Given the description of an element on the screen output the (x, y) to click on. 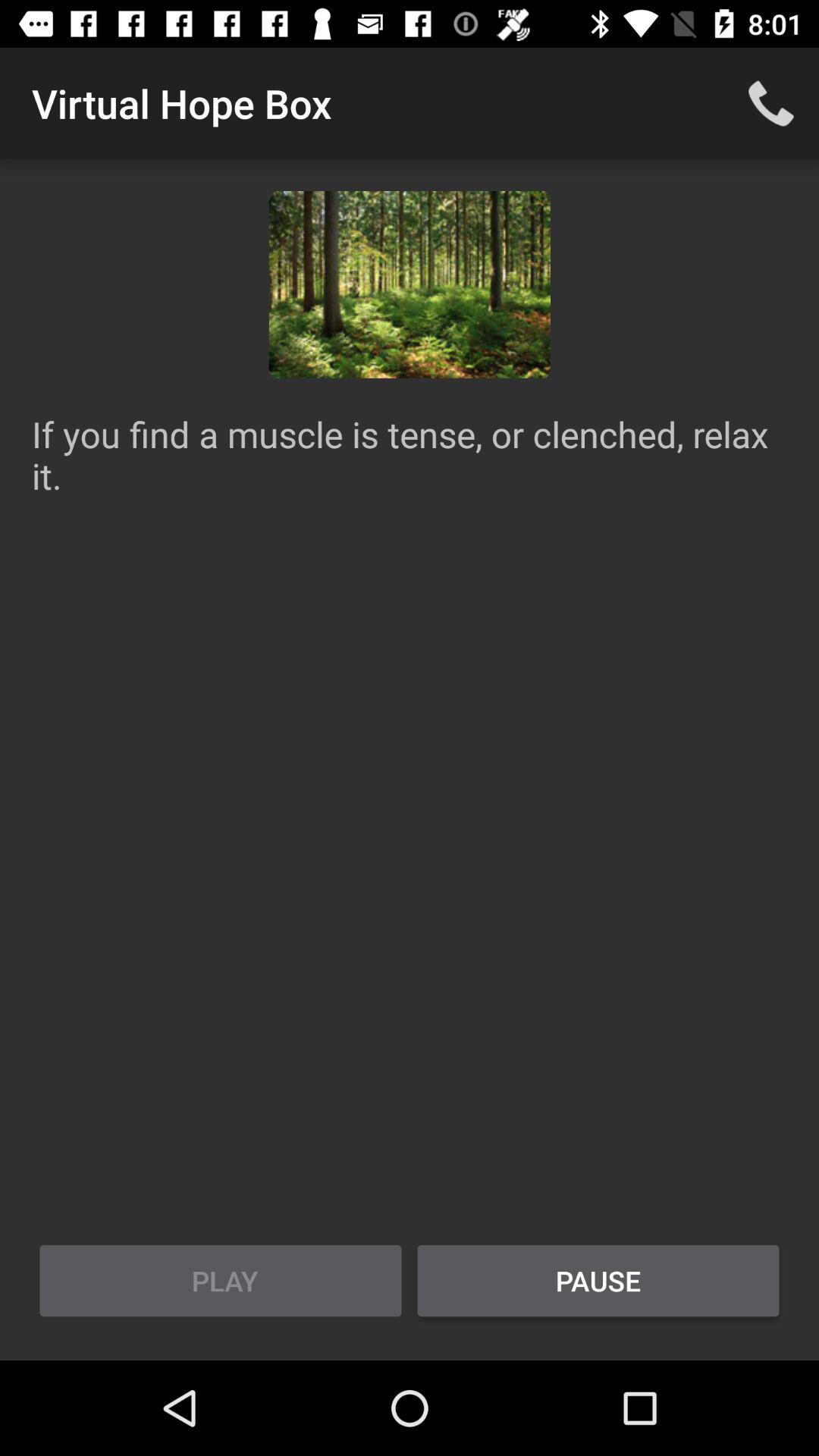
turn on icon next to virtual hope box item (771, 103)
